Given the description of an element on the screen output the (x, y) to click on. 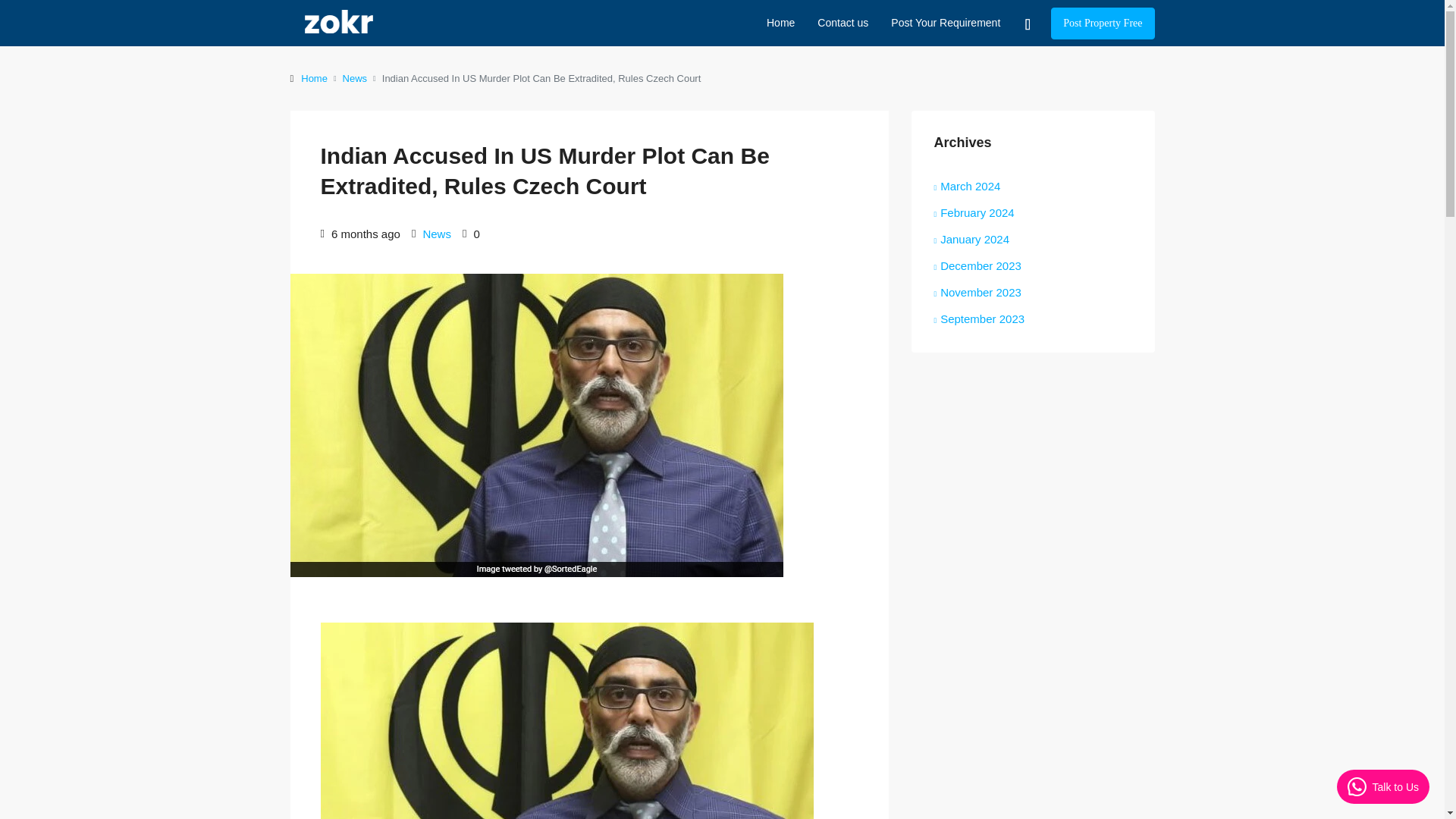
News (436, 233)
February 2024 (974, 212)
Post Your Requirement (945, 22)
News (355, 77)
Home (314, 77)
Home (780, 22)
Post Property Free (1102, 23)
March 2024 (967, 185)
Contact us (842, 22)
